Given the description of an element on the screen output the (x, y) to click on. 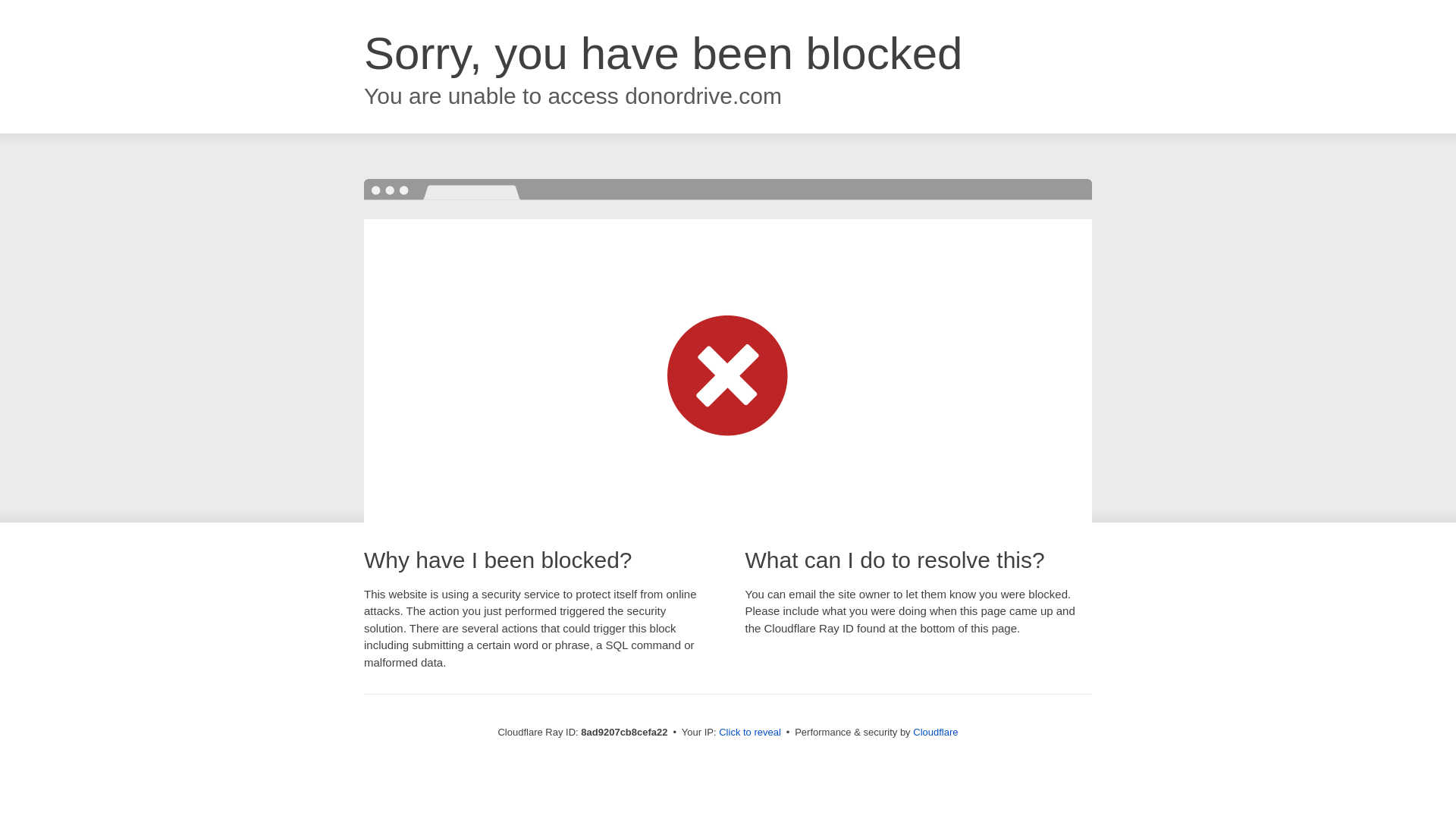
Cloudflare (935, 731)
Click to reveal (749, 732)
